Given the description of an element on the screen output the (x, y) to click on. 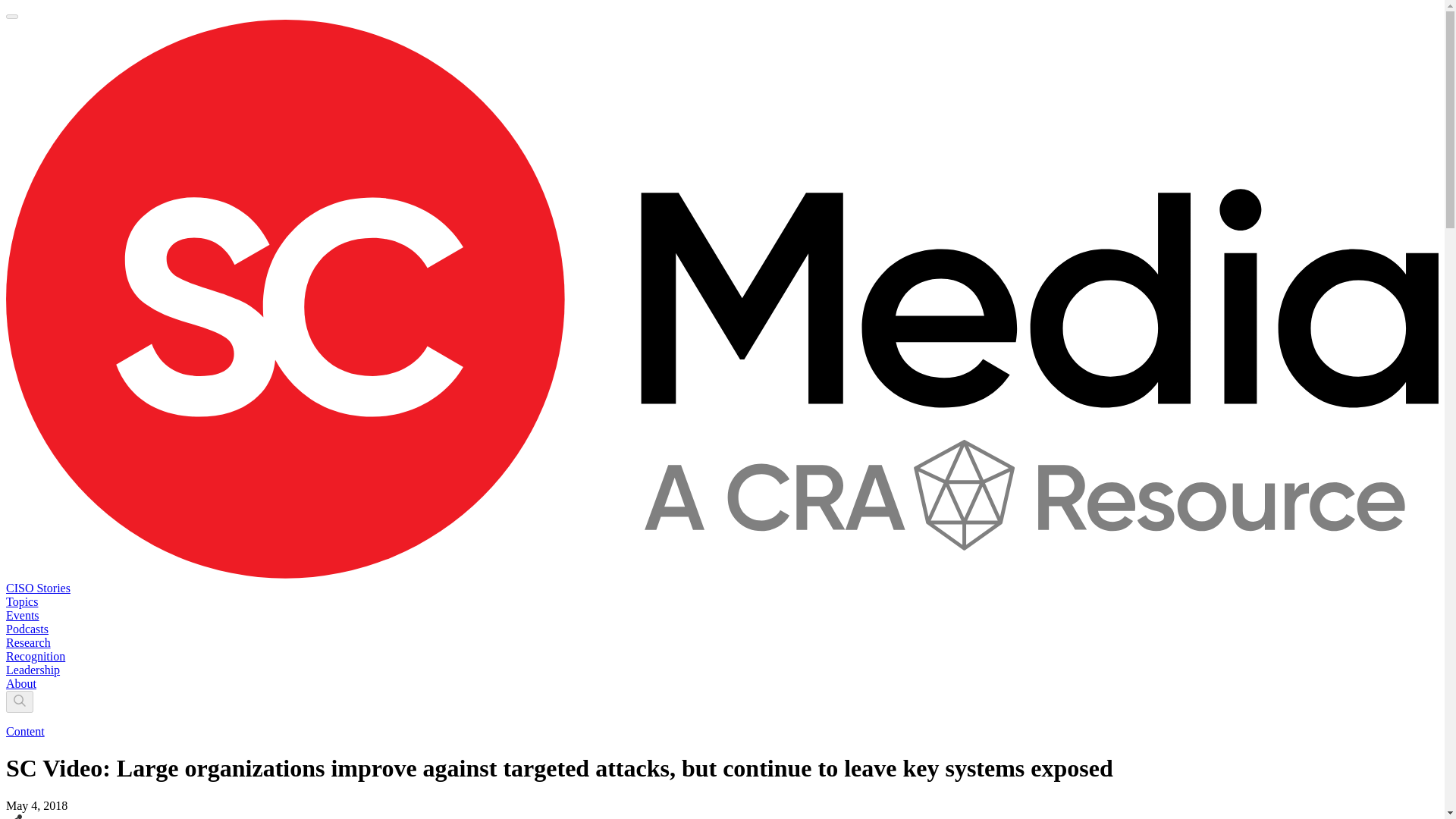
Events (22, 615)
Recognition (35, 656)
About (20, 683)
Topics (21, 601)
CISO Stories (37, 587)
Research (27, 642)
Content (25, 730)
Podcasts (26, 628)
Leadership (32, 669)
